Given the description of an element on the screen output the (x, y) to click on. 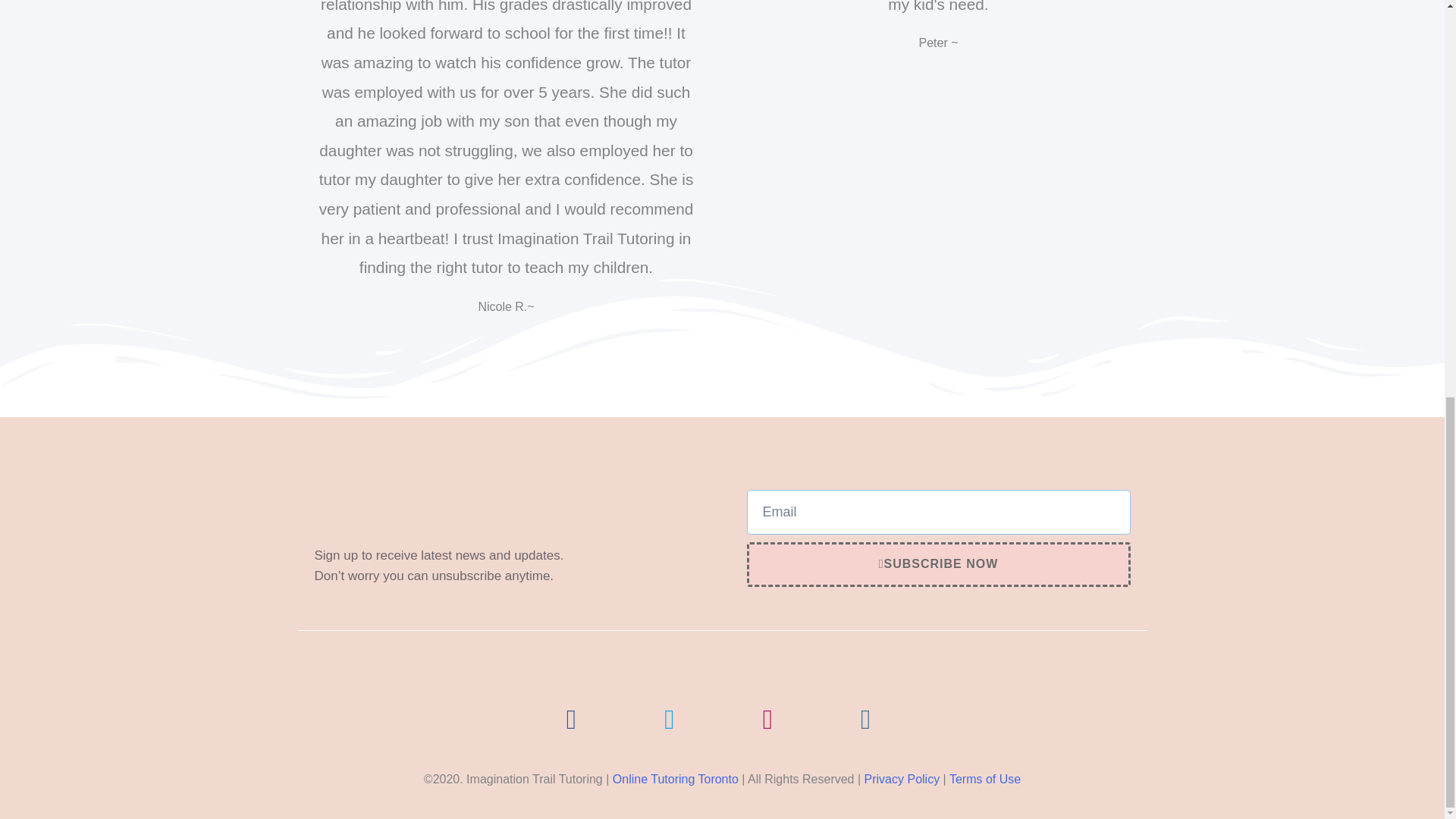
Online Tutoring Toronto (675, 779)
SUBSCRIBE NOW (937, 564)
Privacy Policy (902, 779)
Terms of Use (984, 779)
